Given the description of an element on the screen output the (x, y) to click on. 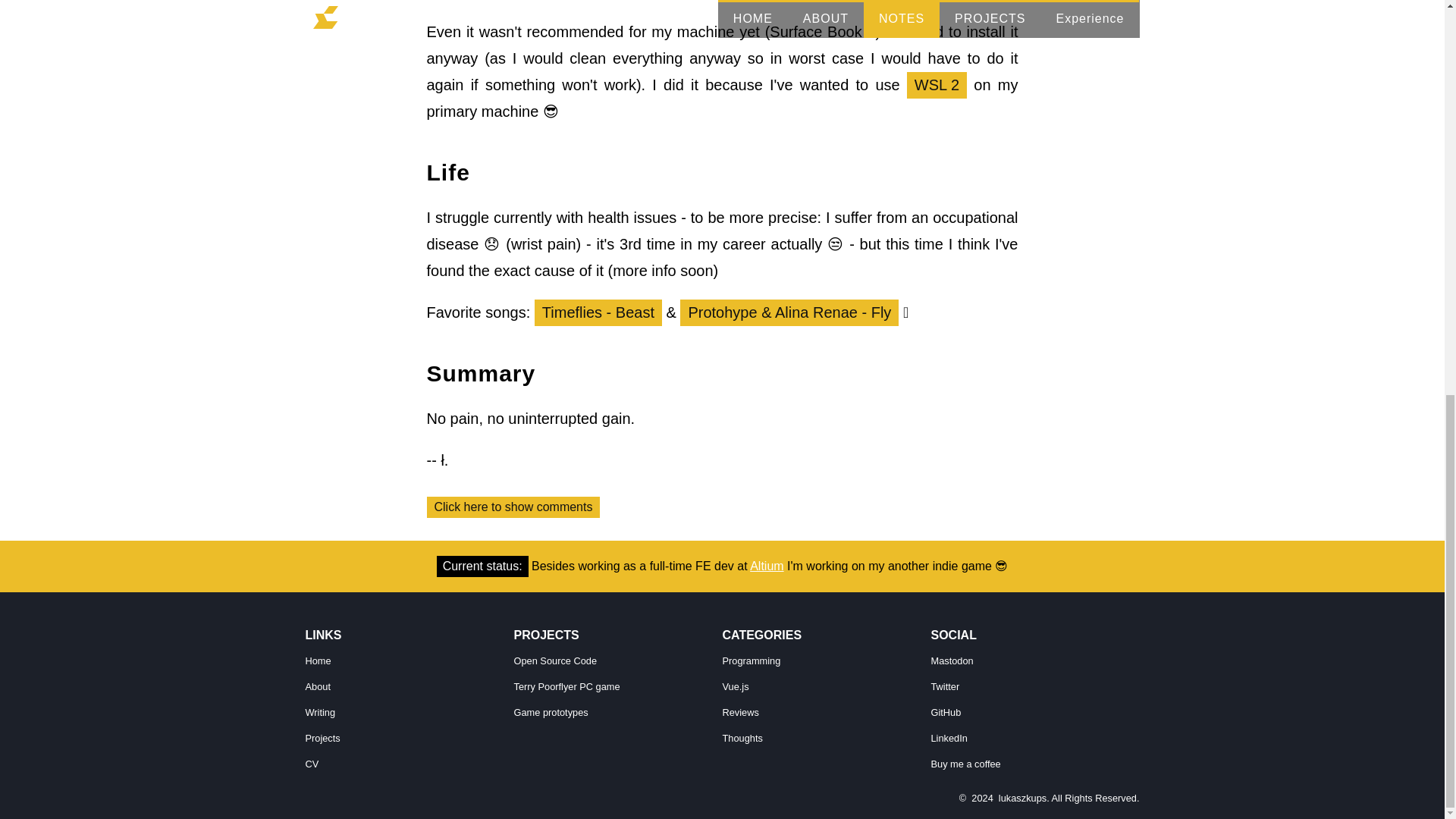
Terry Poorflyer PC game (566, 686)
Mastodon (952, 660)
Altium (766, 565)
Writing (319, 712)
Projects (321, 737)
Programming (751, 660)
Thoughts (741, 737)
CV (311, 763)
Open Source Code (554, 660)
GitHub (945, 712)
LinkedIn (949, 737)
Twitter (945, 686)
Game prototypes (550, 712)
Timeflies - Beast (598, 312)
WSL 2 (936, 85)
